Given the description of an element on the screen output the (x, y) to click on. 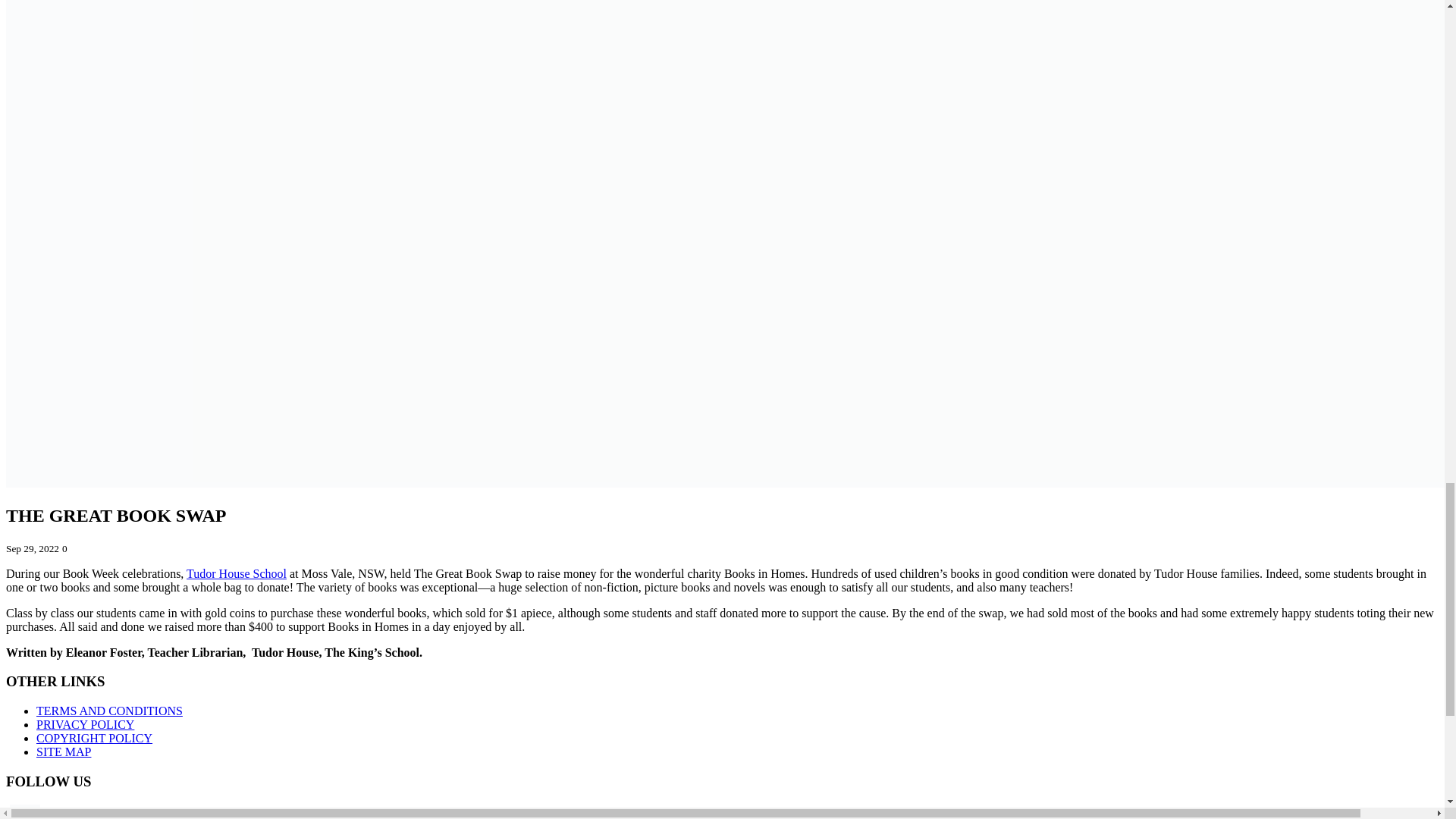
Facebook (25, 811)
